Given the description of an element on the screen output the (x, y) to click on. 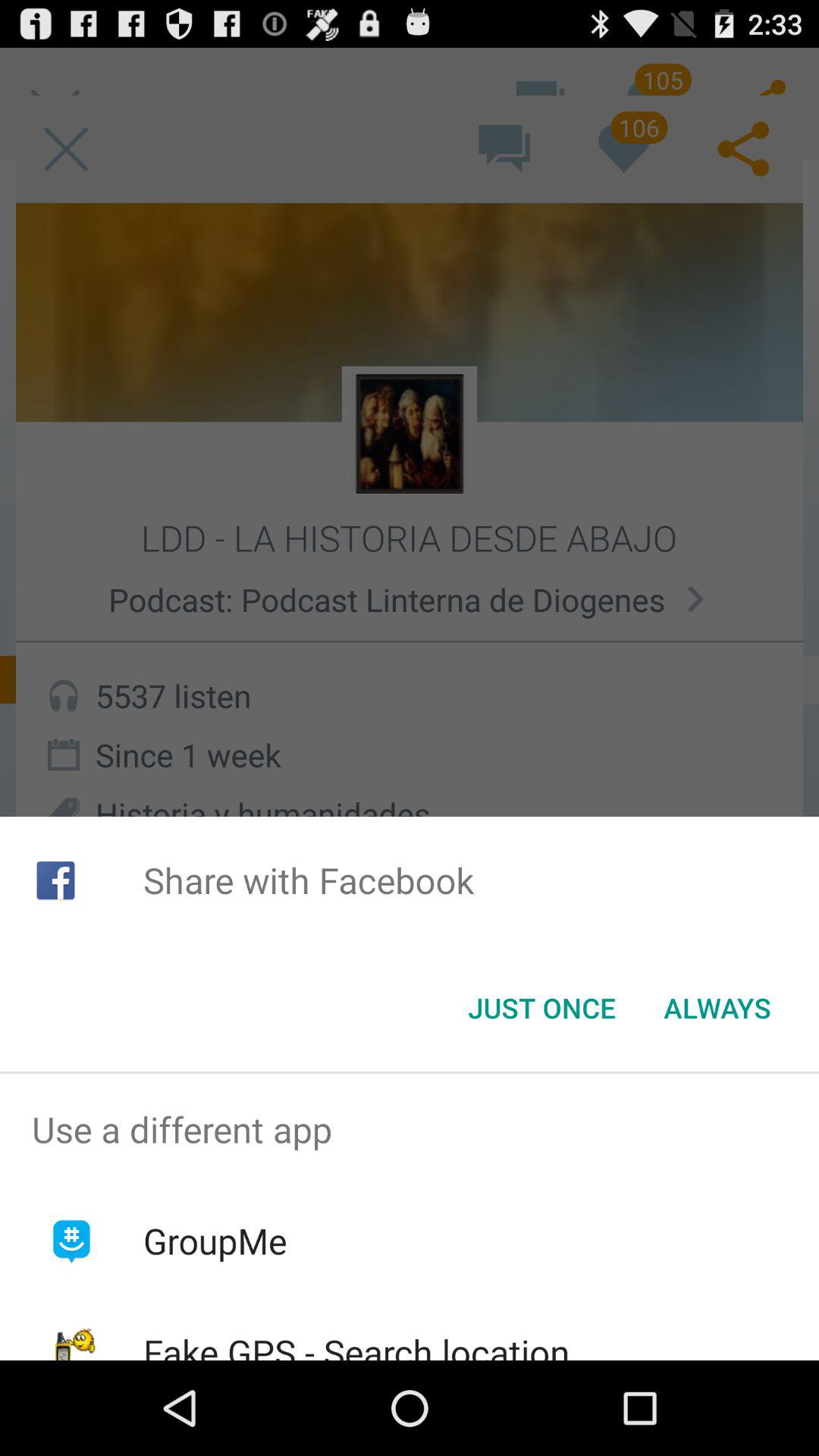
choose groupme item (215, 1240)
